Given the description of an element on the screen output the (x, y) to click on. 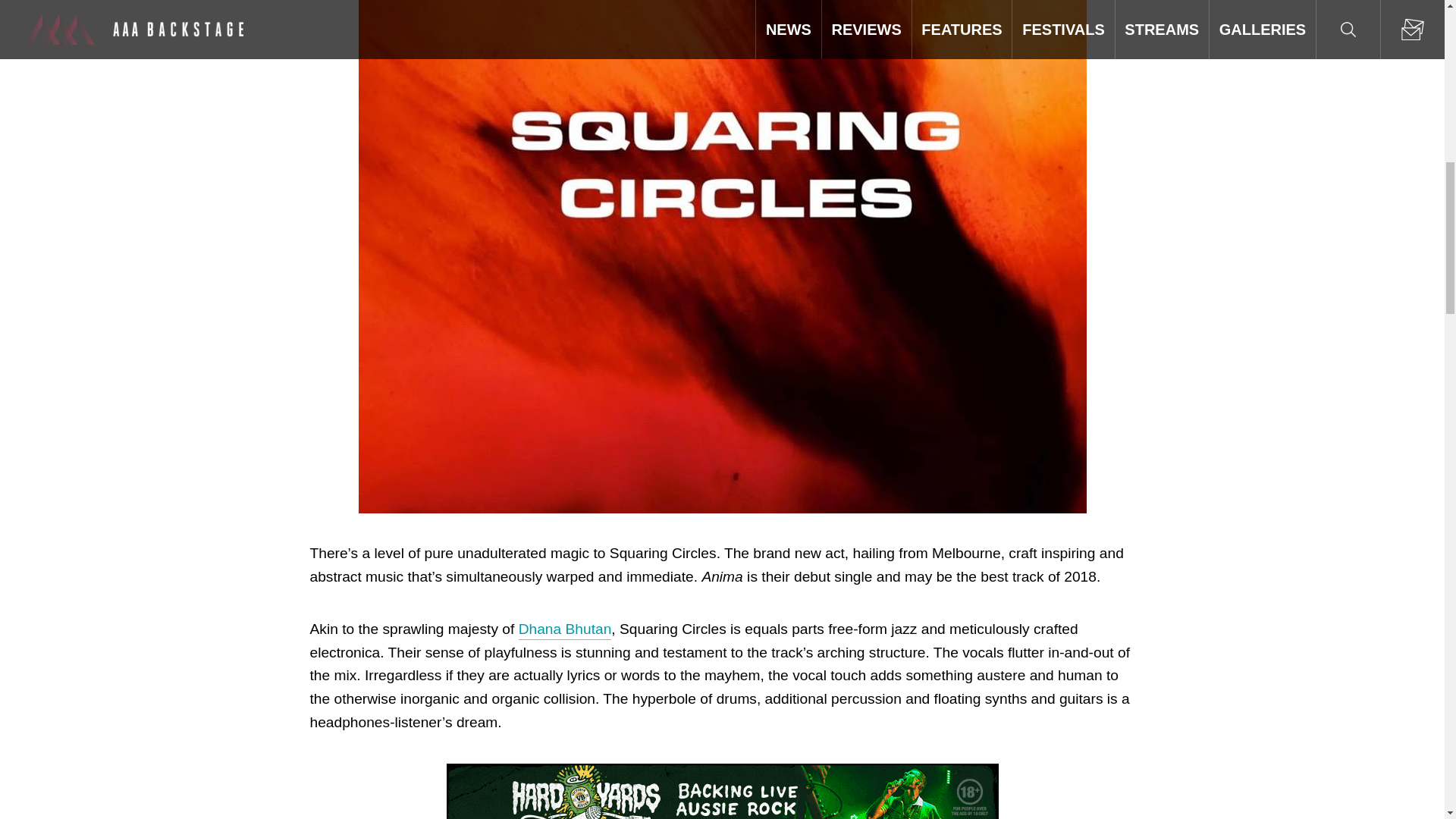
Dhana Bhutan (564, 629)
